Given the description of an element on the screen output the (x, y) to click on. 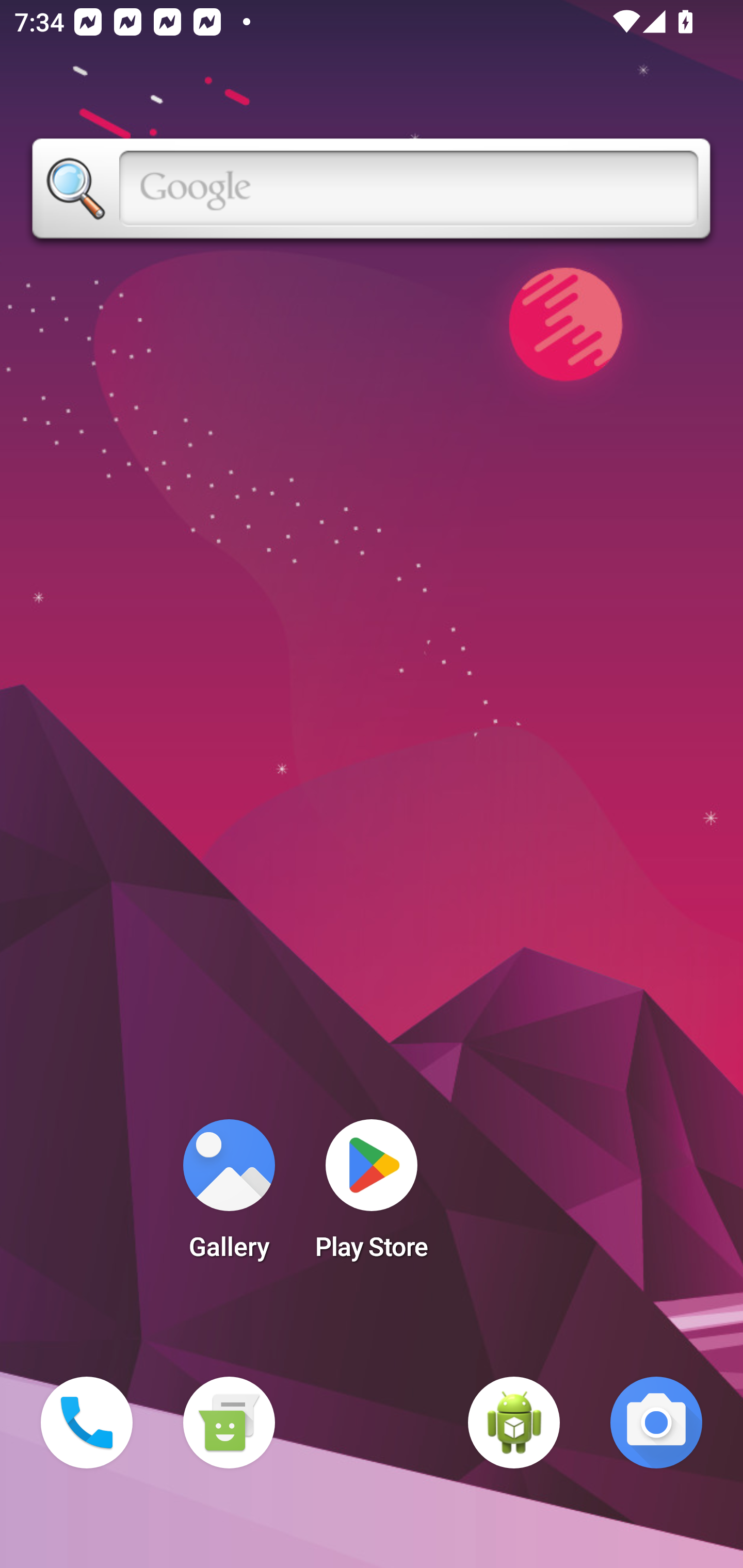
Gallery (228, 1195)
Play Store (371, 1195)
Phone (86, 1422)
Messaging (228, 1422)
WebView Browser Tester (513, 1422)
Camera (656, 1422)
